Given the description of an element on the screen output the (x, y) to click on. 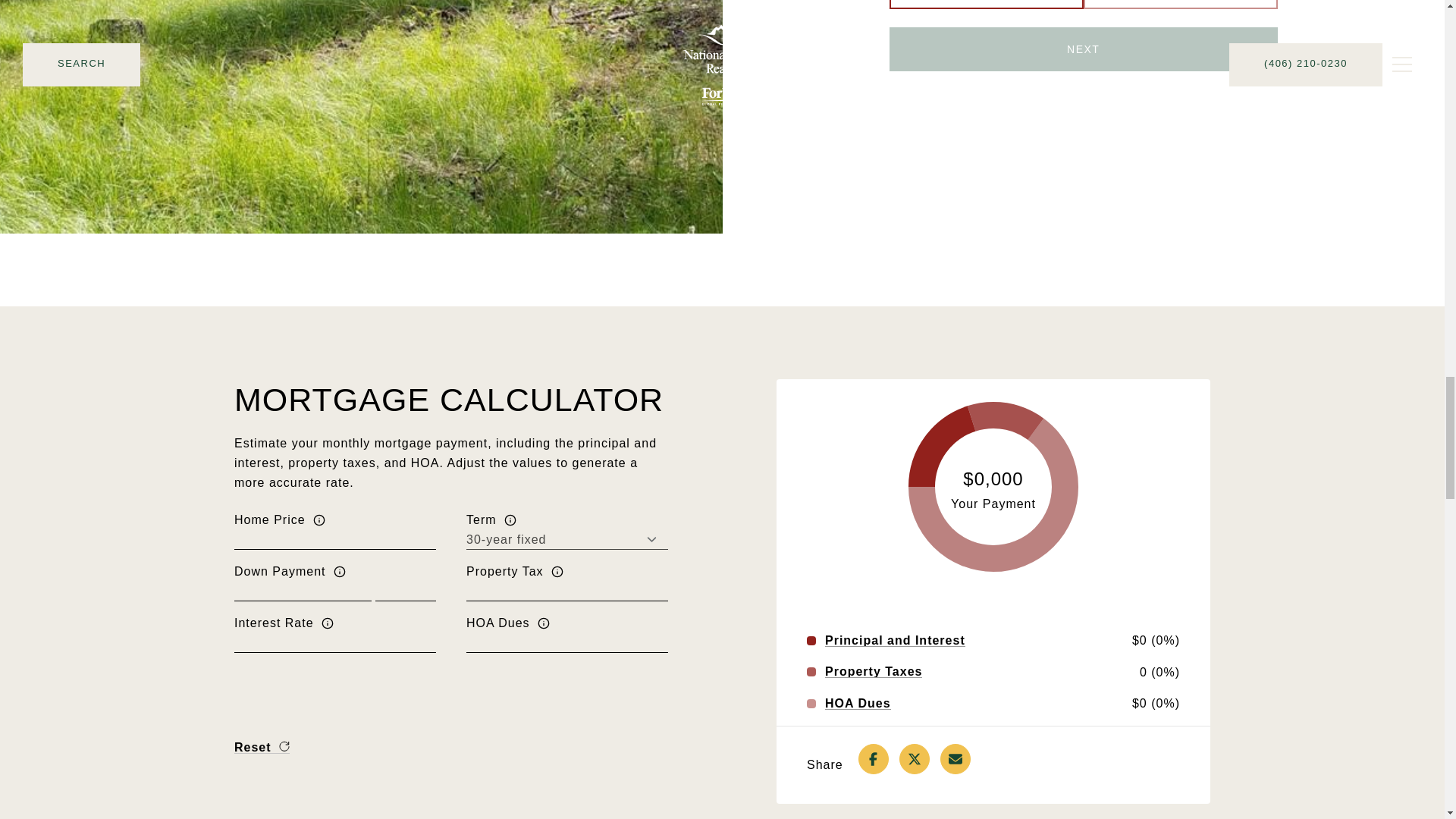
Reset (261, 747)
Property Taxes (873, 671)
Principal and Interest (895, 640)
HOA Dues (858, 703)
NEXT (1083, 49)
